Given the description of an element on the screen output the (x, y) to click on. 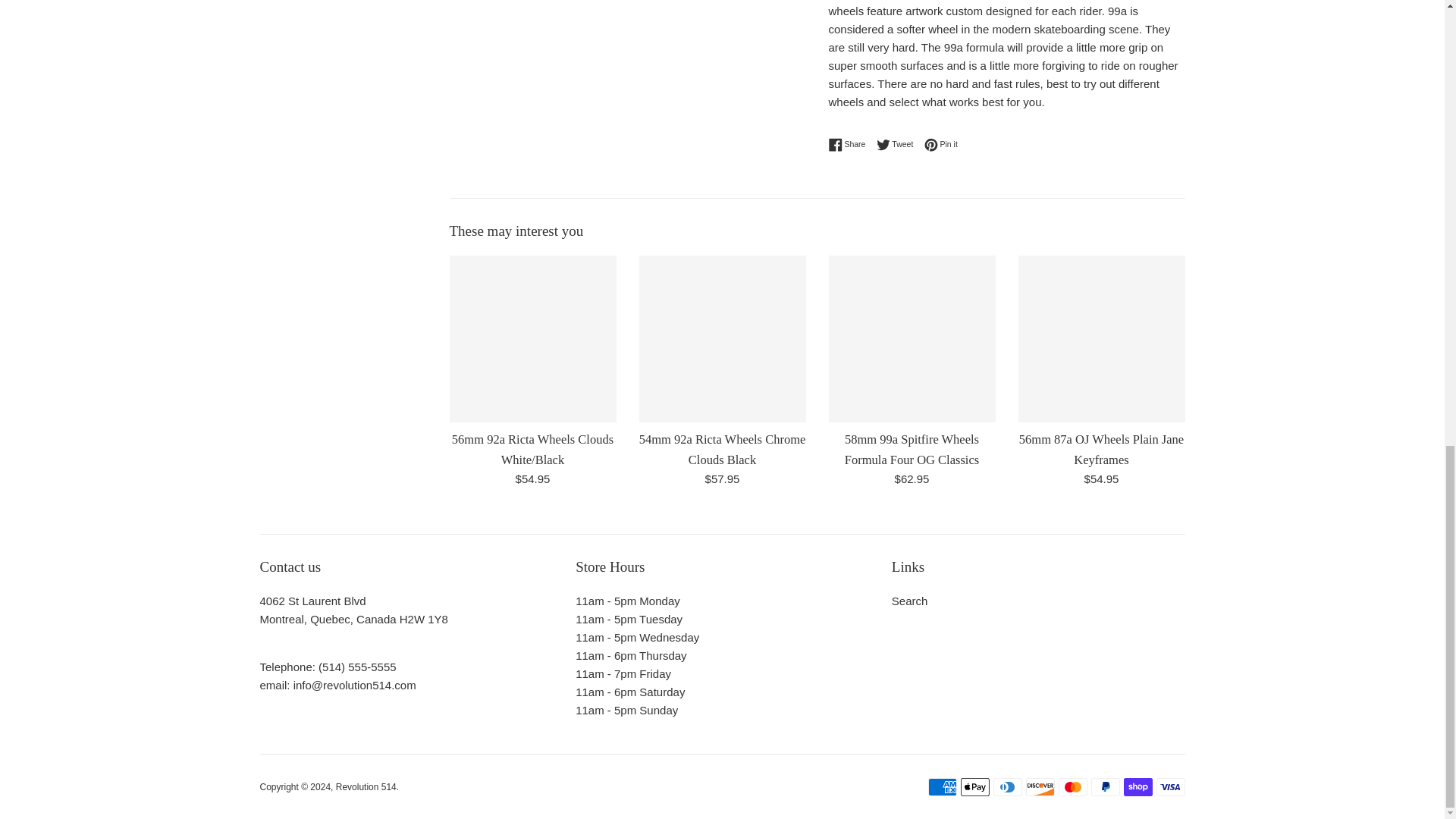
54mm 92a Ricta Wheels Chrome Clouds Black (722, 338)
58mm 99a Spitfire Wheels Formula Four OG Classics (911, 338)
American Express (942, 787)
Diners Club (1007, 787)
Apple Pay (973, 787)
Mastercard (1072, 787)
56mm 87a OJ Wheels Plain Jane Keyframes (1101, 338)
PayPal (1104, 787)
Pin on Pinterest (941, 144)
Tweet on Twitter (898, 144)
